Given the description of an element on the screen output the (x, y) to click on. 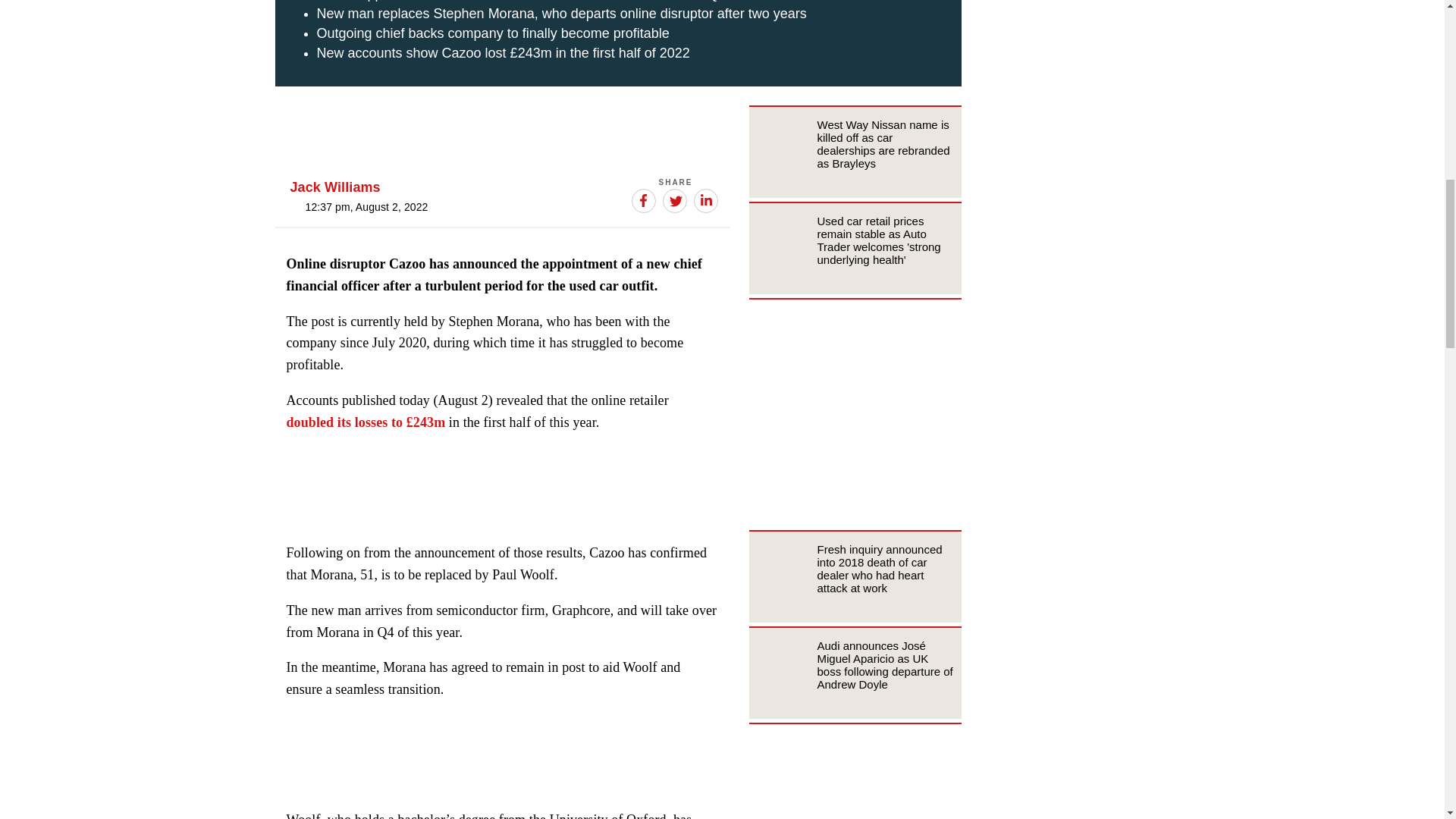
Posts by Jack Williams (334, 186)
Jack Williams (334, 186)
